Given the description of an element on the screen output the (x, y) to click on. 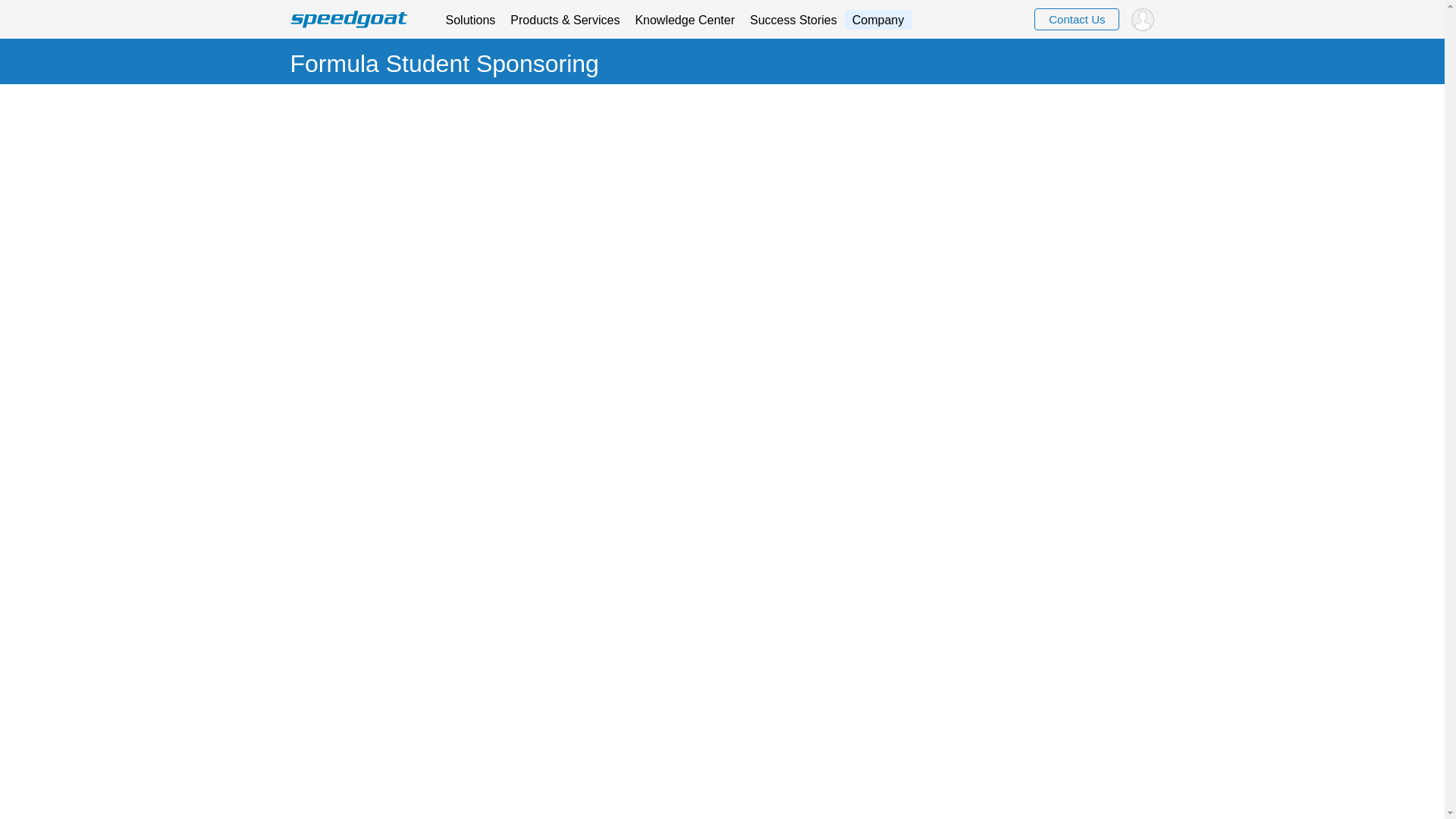
Contact Us (1076, 19)
Solutions (470, 18)
Knowledge Center (684, 18)
Success Stories (793, 18)
Company (877, 18)
Customer Portal (1142, 18)
